Given the description of an element on the screen output the (x, y) to click on. 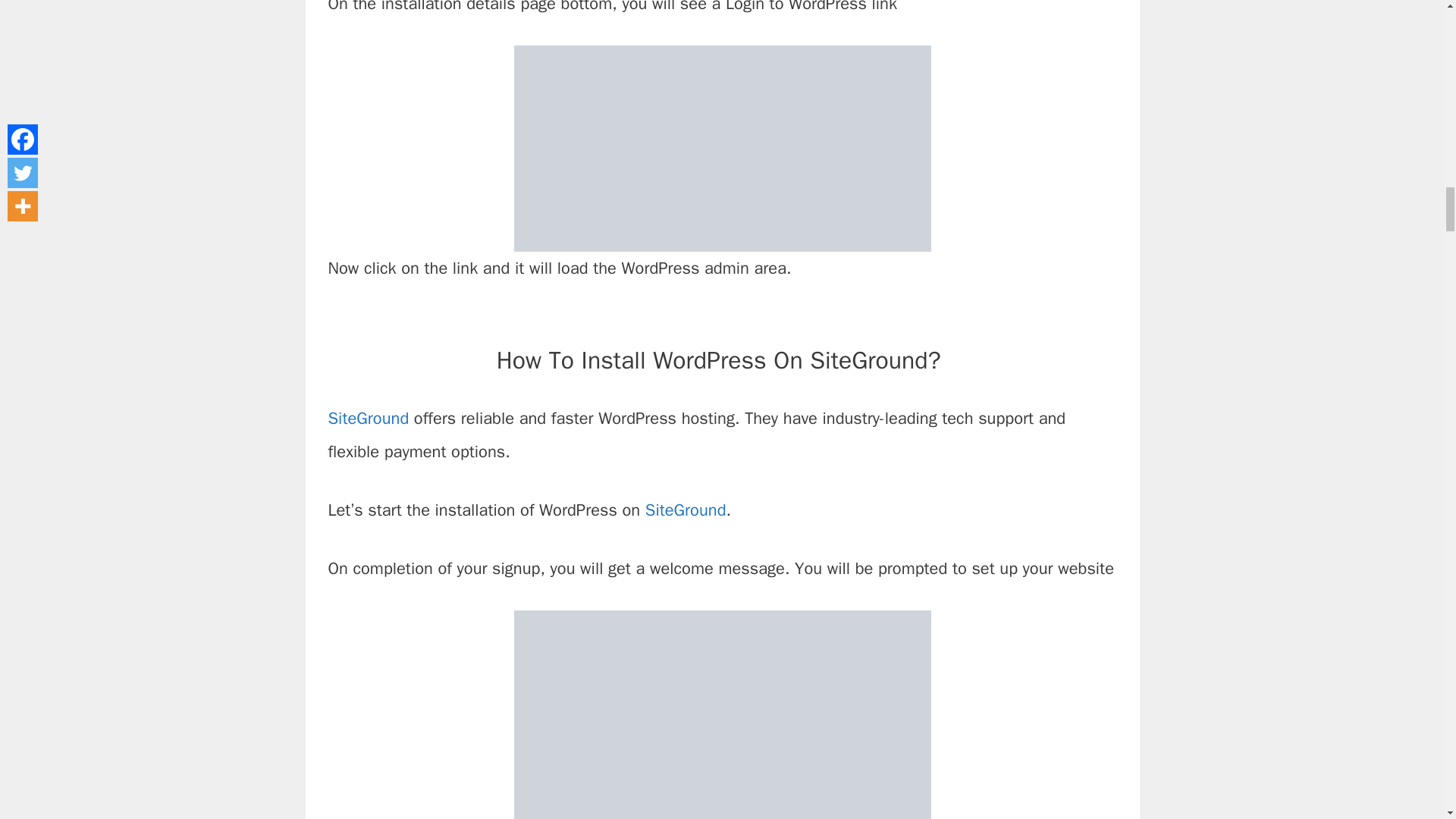
SiteGround (685, 509)
SiteGround (370, 418)
